Given the description of an element on the screen output the (x, y) to click on. 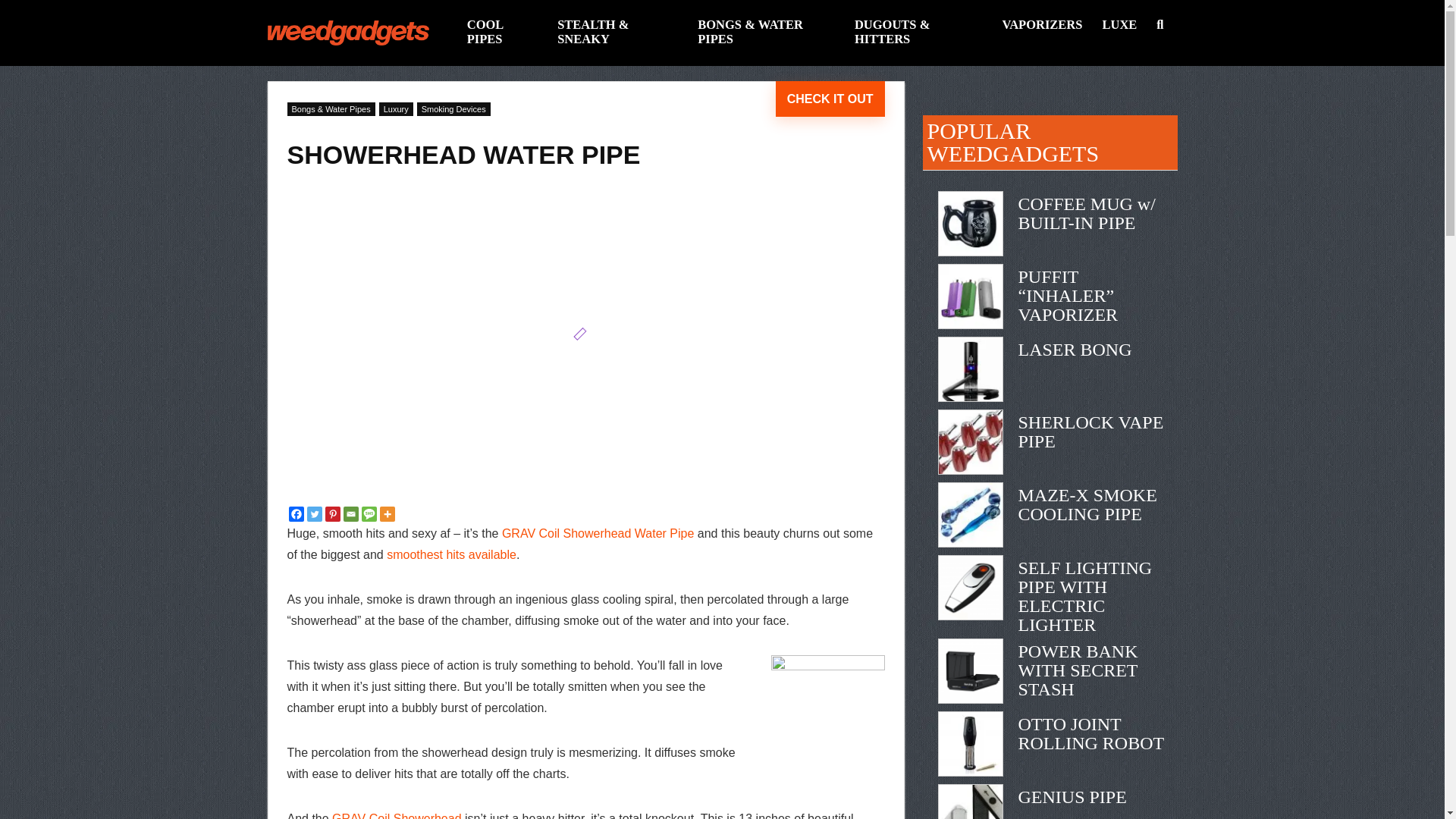
Pinterest (331, 513)
Luxury (395, 109)
More (386, 513)
VAPORIZERS (1041, 25)
Facebook (295, 513)
View all posts in Smoking Devices (453, 109)
SMS (368, 513)
LUXE (1119, 25)
Email (350, 513)
GRAV Coil Showerhead Water Pipe (598, 533)
GRAV Coil Showerhead Water Pipe (598, 533)
Twitter (313, 513)
CHECK IT OUT (830, 99)
View all posts in Luxury (395, 109)
GRAV Coil Showerhead Water Pipe (396, 815)
